Given the description of an element on the screen output the (x, y) to click on. 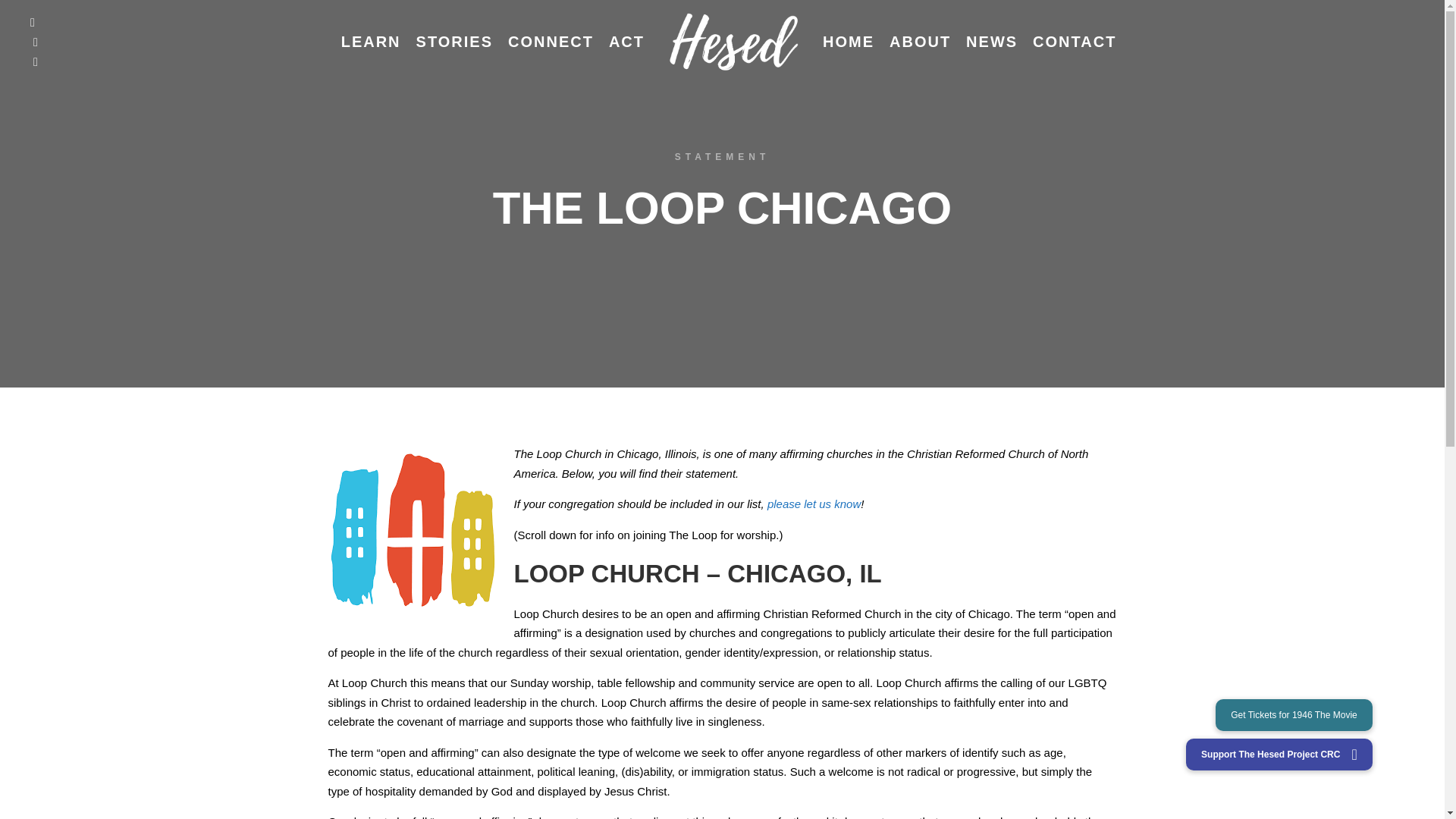
CONTACT (1074, 42)
Get Tickets for 1946 The Movie (1294, 715)
Facebook (32, 21)
STORIES (454, 42)
The Hesed Project (732, 42)
please let us know (813, 503)
Instagram (35, 41)
Support The Hesed Project CRC (1279, 754)
ABOUT (920, 42)
CONNECT (550, 42)
